Given the description of an element on the screen output the (x, y) to click on. 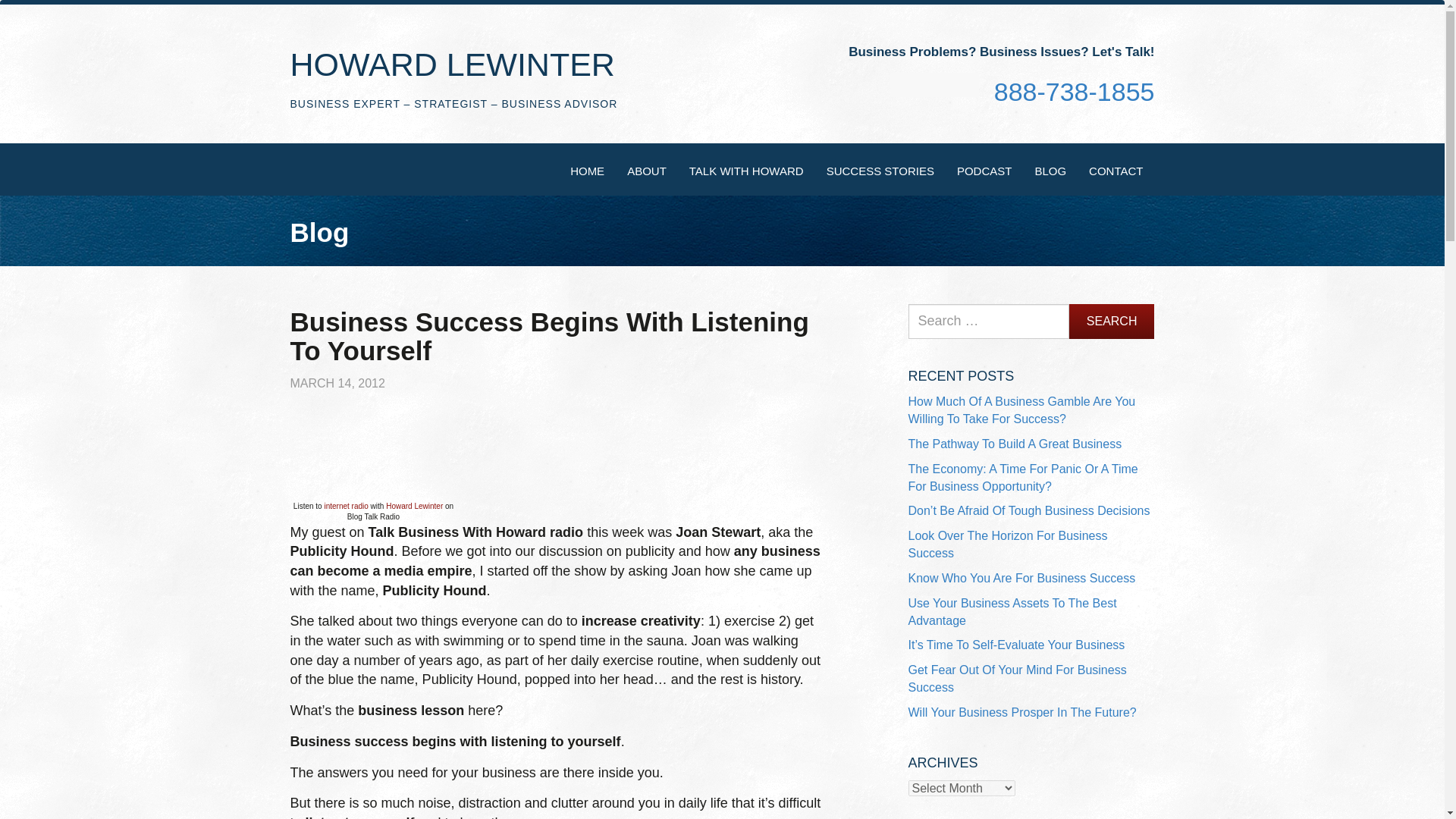
LinkedIn (934, 86)
Blog (1050, 169)
SEARCH (1111, 321)
Facebook (904, 84)
LinkedIn (934, 84)
Twitter (963, 84)
Home (587, 169)
Talk With Howard (746, 169)
About (646, 169)
ABOUT (646, 169)
Facebook (904, 86)
Success Stories (879, 169)
TALK WITH HOWARD (746, 169)
PODCAST (983, 169)
BLOG (1050, 169)
